Given the description of an element on the screen output the (x, y) to click on. 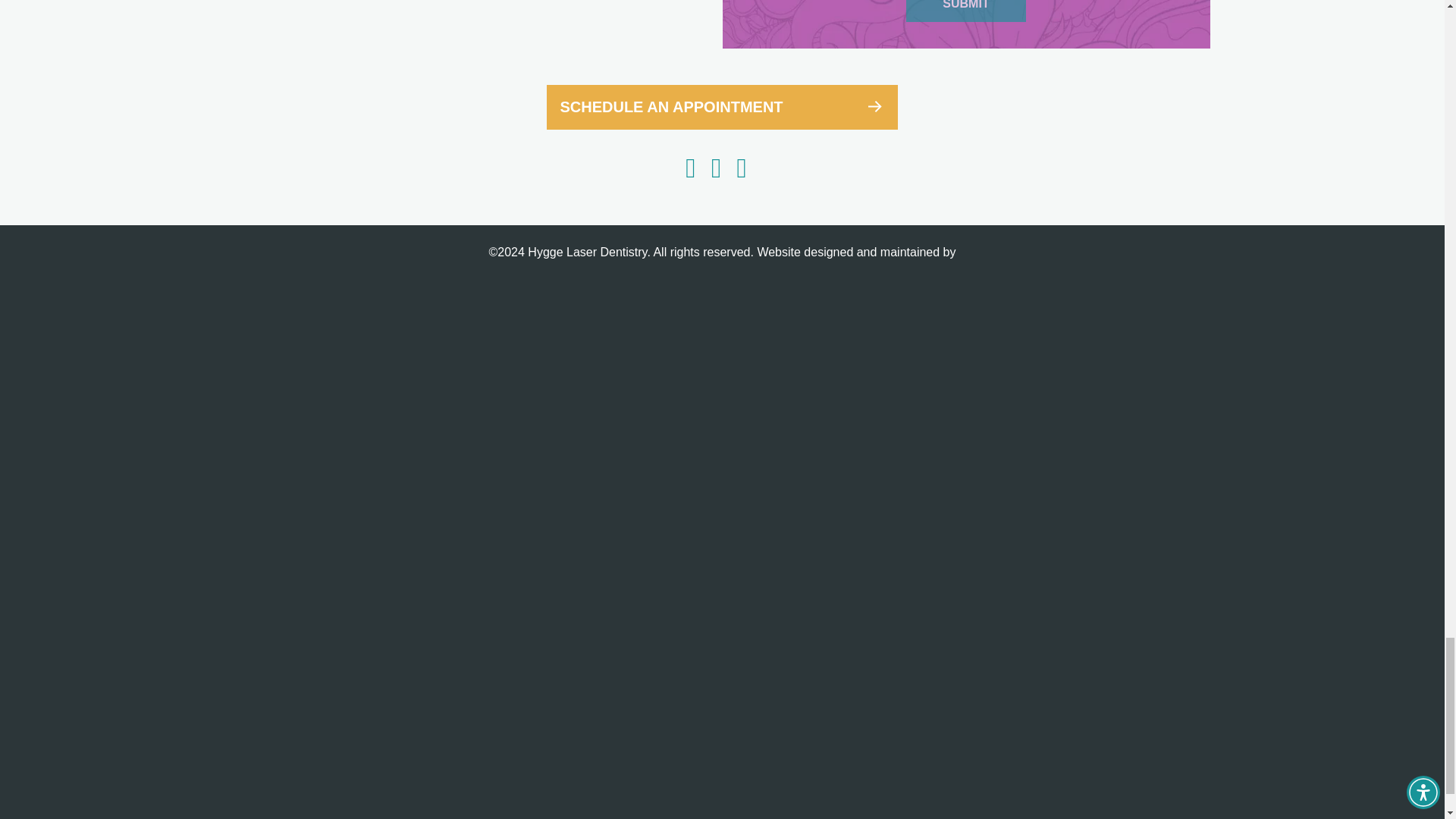
Submit (965, 11)
